Given the description of an element on the screen output the (x, y) to click on. 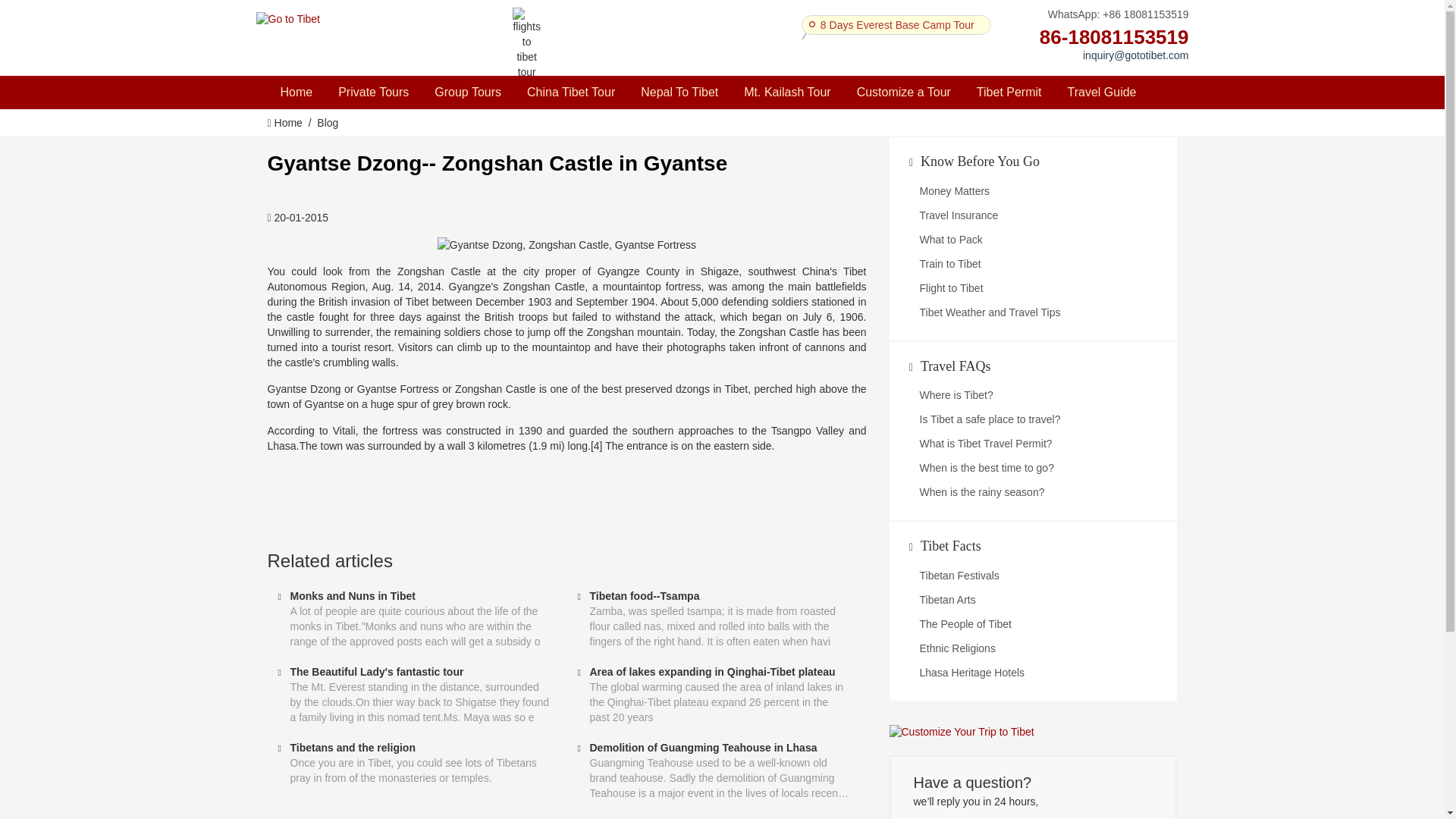
Home (295, 92)
China Tibet Tour (570, 92)
Go to Tibet (288, 19)
Private Tours (373, 92)
8 Days Everest Base Camp Tour (897, 24)
Group Tours (467, 92)
